Given the description of an element on the screen output the (x, y) to click on. 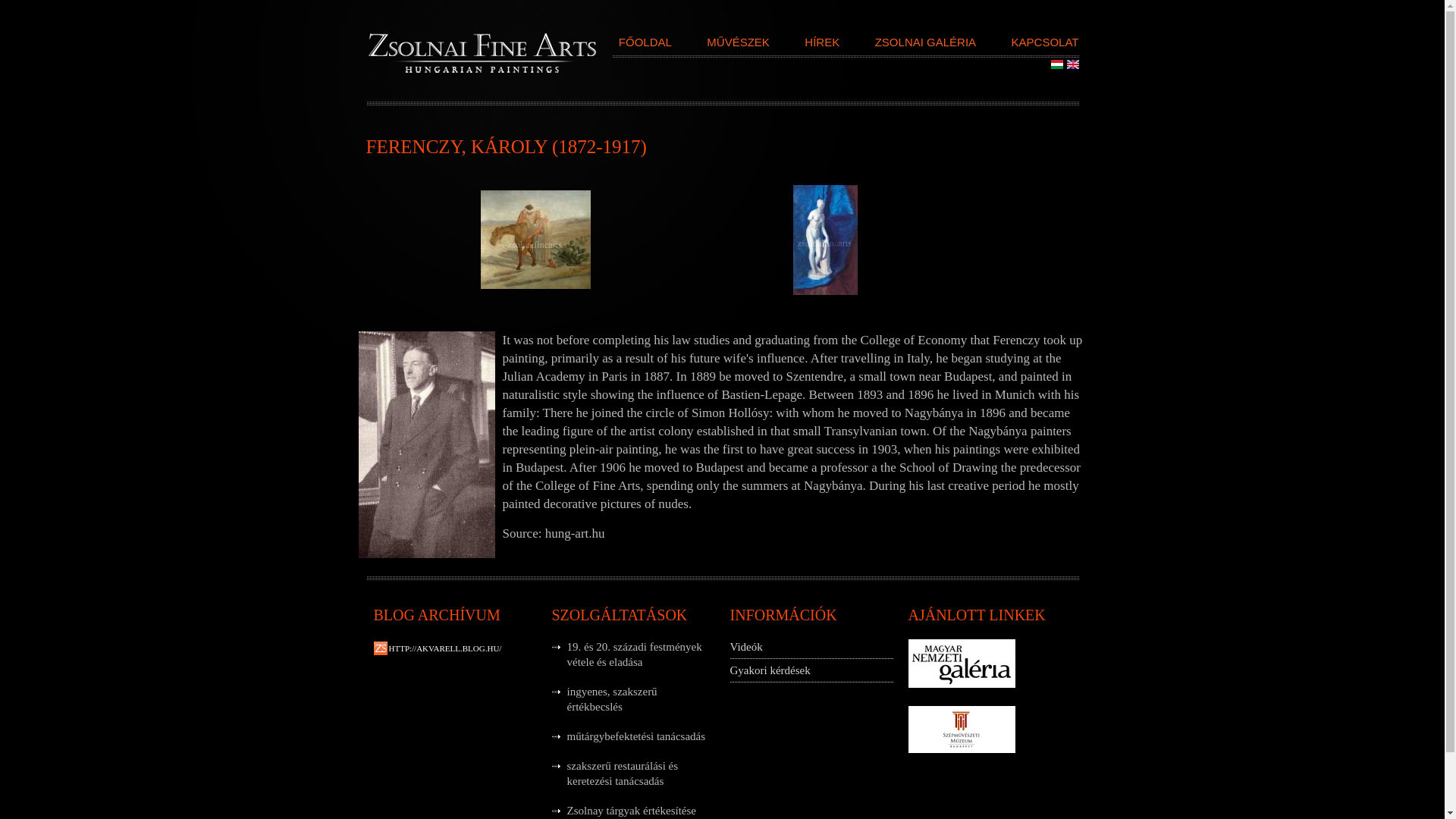
English (1071, 63)
Magyar (1056, 63)
KAPCSOLAT (1044, 46)
